Given the description of an element on the screen output the (x, y) to click on. 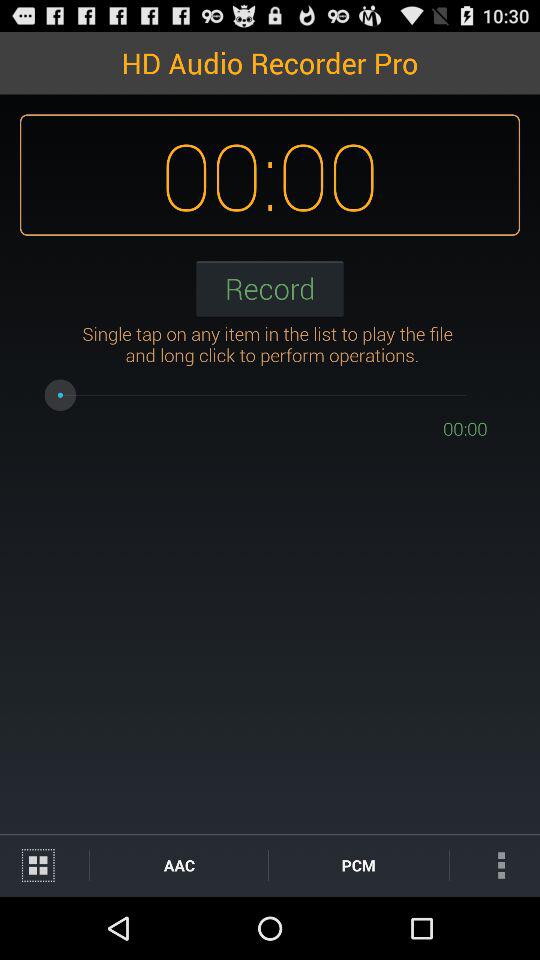
turn off item at the bottom right corner (494, 864)
